Given the description of an element on the screen output the (x, y) to click on. 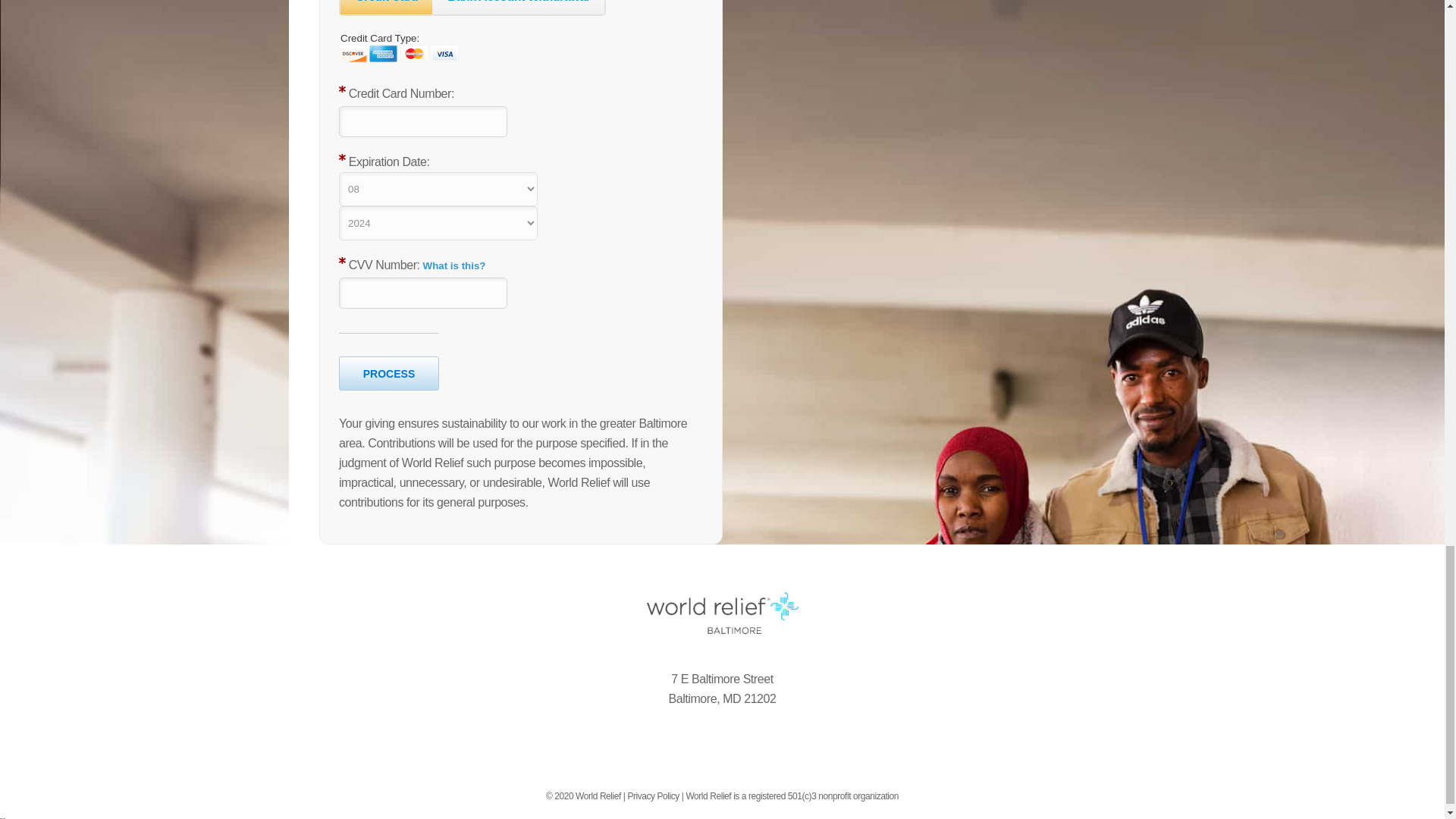
World Relief (721, 612)
What is this? Opens new window. (454, 265)
Bank Account Withdrawal (517, 1)
PROCESS (389, 373)
Credit Card (386, 1)
What is this? (454, 265)
